Given the description of an element on the screen output the (x, y) to click on. 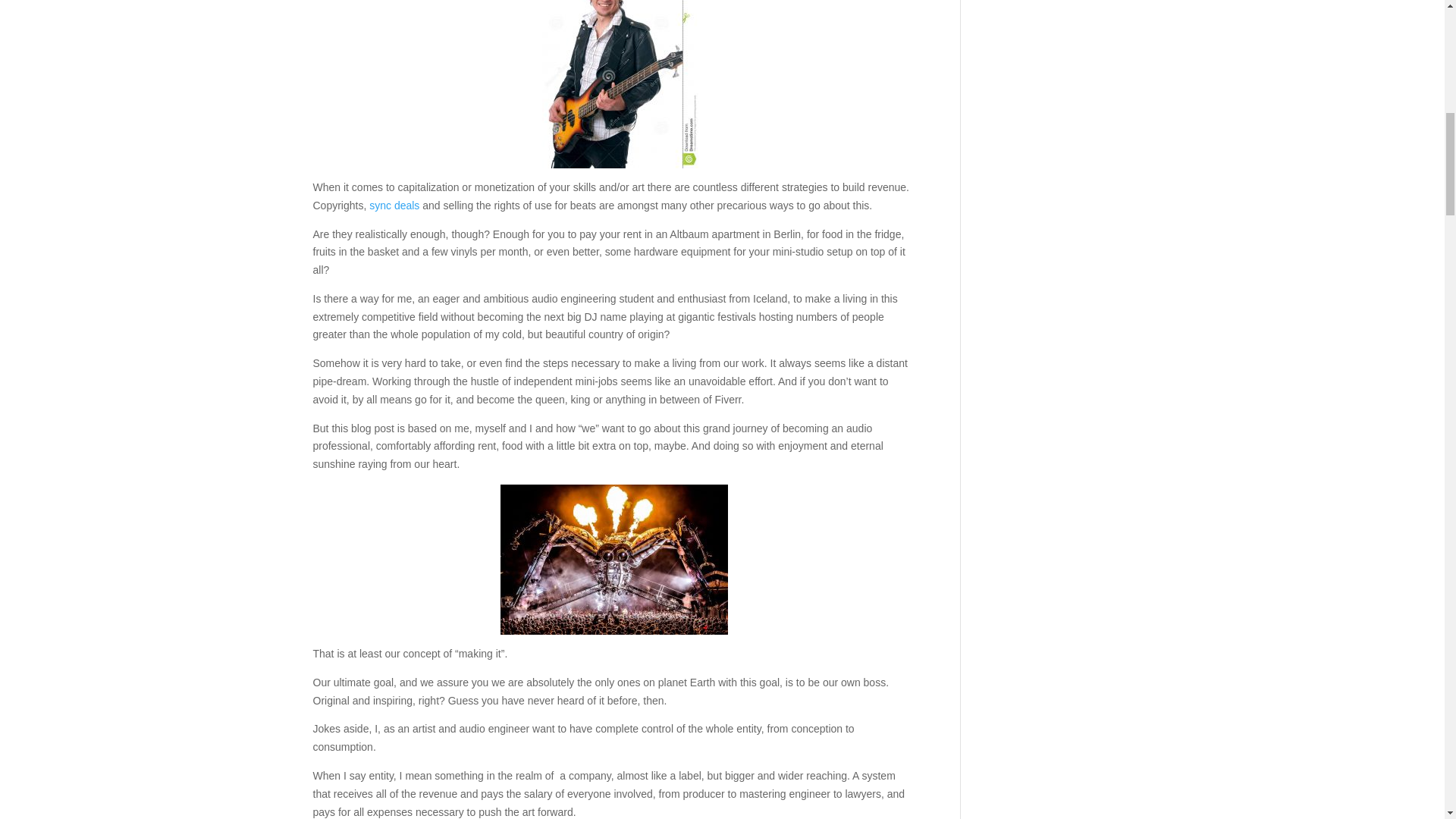
sync deals (394, 205)
